Given the description of an element on the screen output the (x, y) to click on. 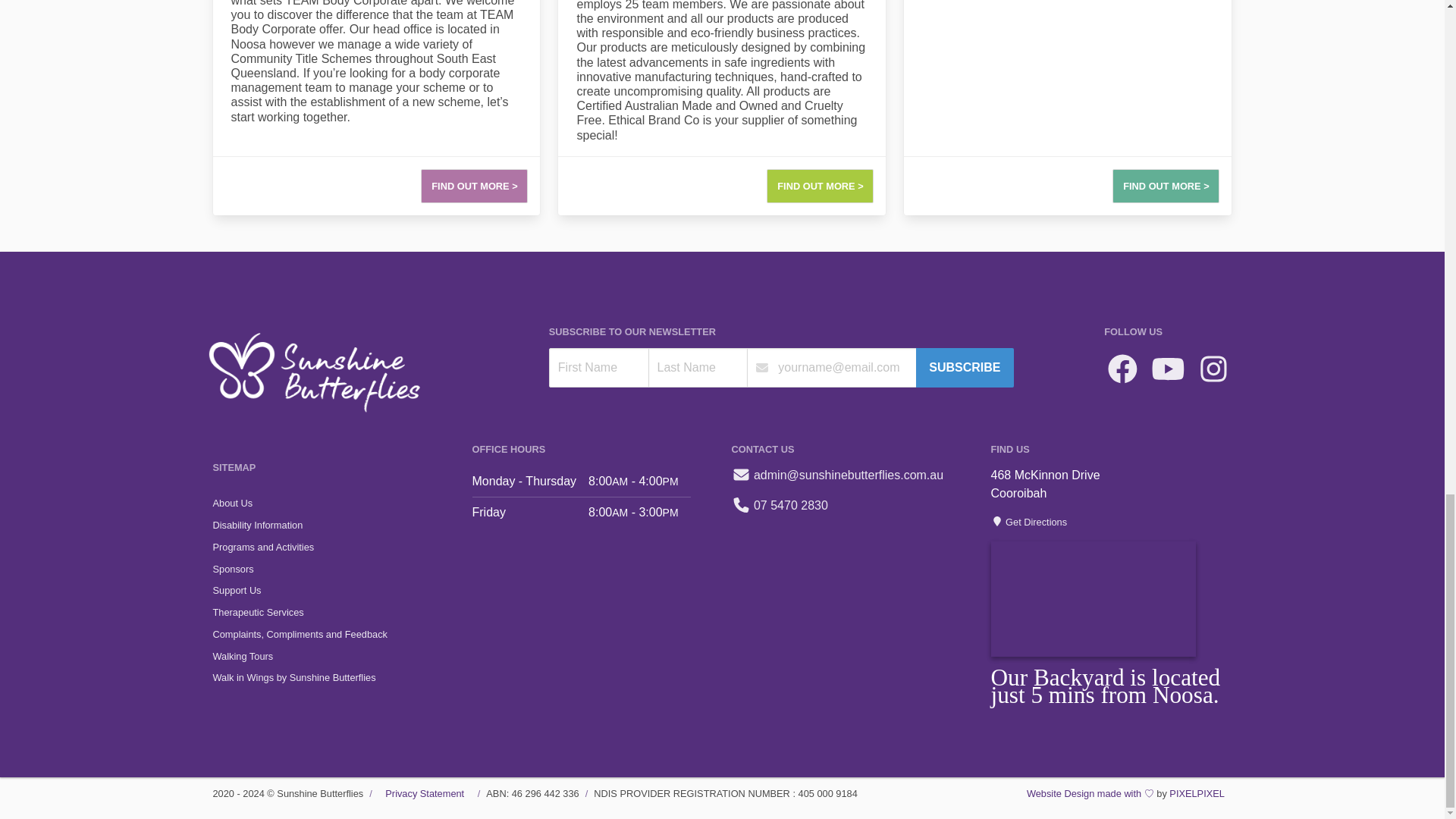
Therapeutic Services (332, 612)
Programs and Activities (332, 546)
Sponsors (332, 568)
Complaints, Compliments and Feedback (332, 634)
About Us  (332, 504)
Complaints, Compliments and Feedback (332, 634)
Ethical Brand Co (721, 107)
SUBSCRIBE (964, 367)
 07 5470 2830 (778, 504)
Programs and Activities (332, 546)
Team Body Corporate (376, 107)
Support Us (332, 590)
Ethical Brand Co (721, 107)
Walking Tours (332, 656)
Therapeutic Services (332, 612)
